Given the description of an element on the screen output the (x, y) to click on. 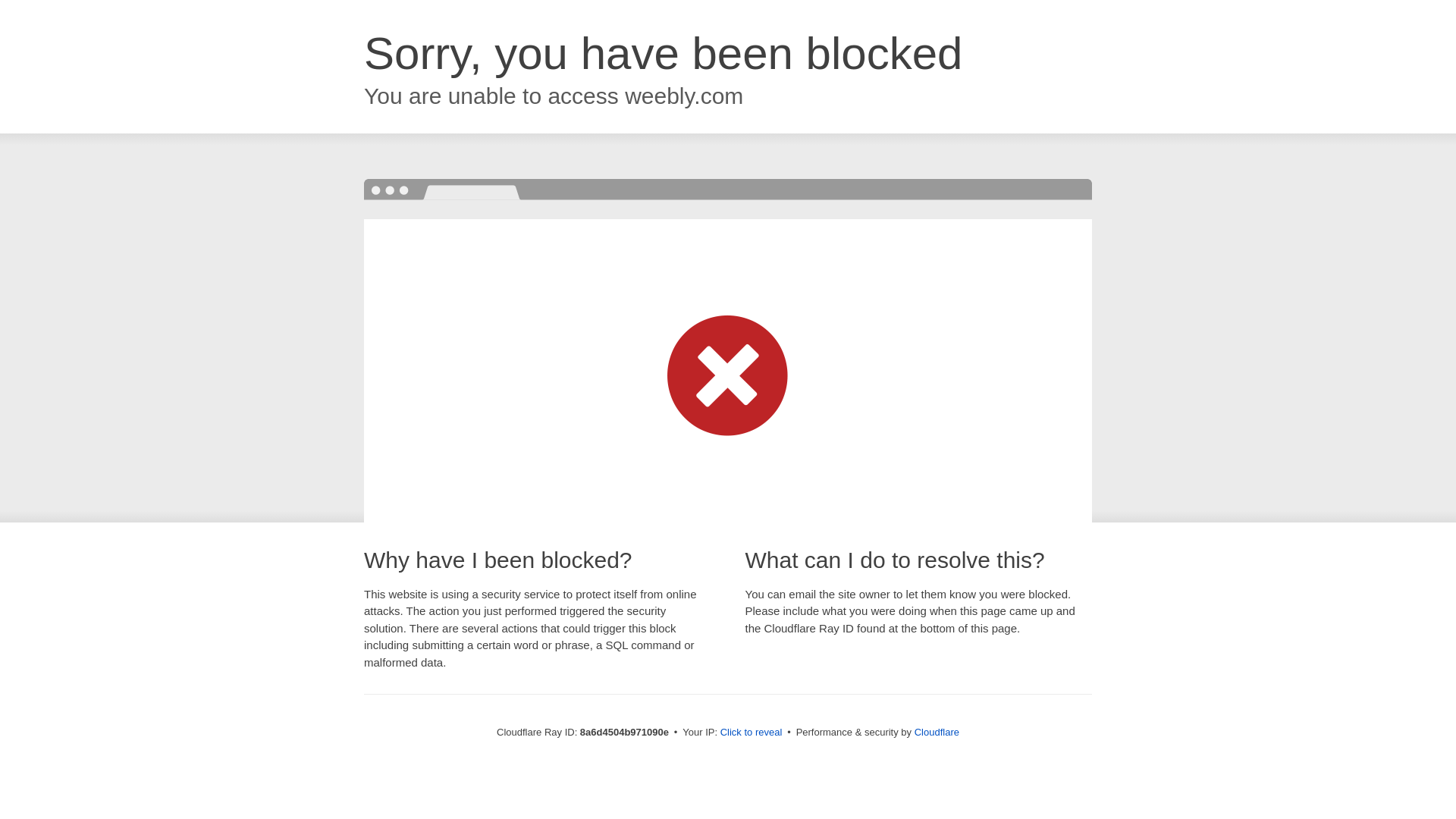
Click to reveal (751, 732)
Cloudflare (936, 731)
